Given the description of an element on the screen output the (x, y) to click on. 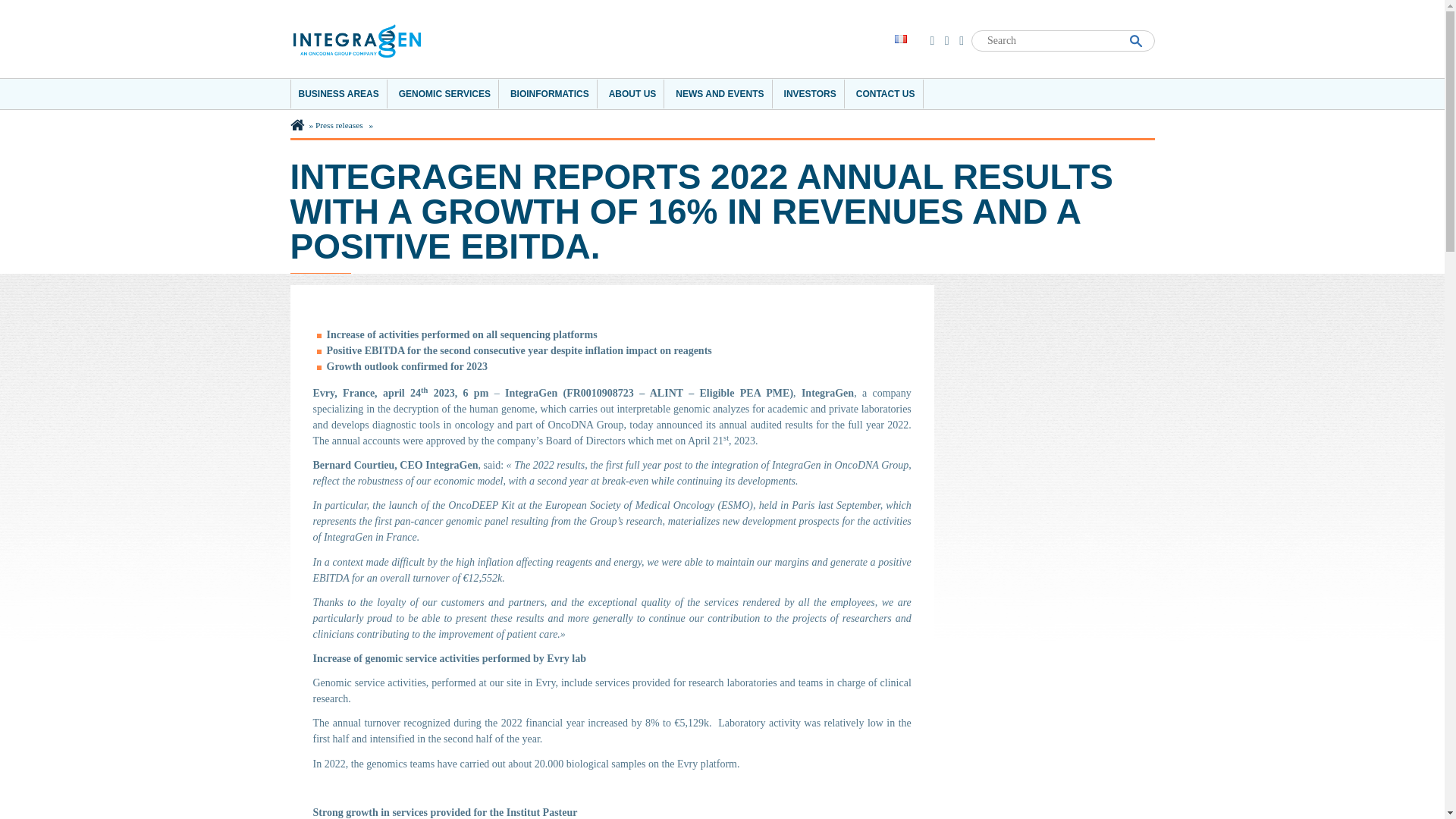
NEWS AND EVENTS (719, 93)
INVESTORS (810, 93)
Search (1138, 39)
ABOUT US (633, 93)
Search (1138, 39)
GENOMIC SERVICES (445, 93)
BUSINESS AREAS (338, 93)
BIOINFORMATICS (549, 93)
